Given the description of an element on the screen output the (x, y) to click on. 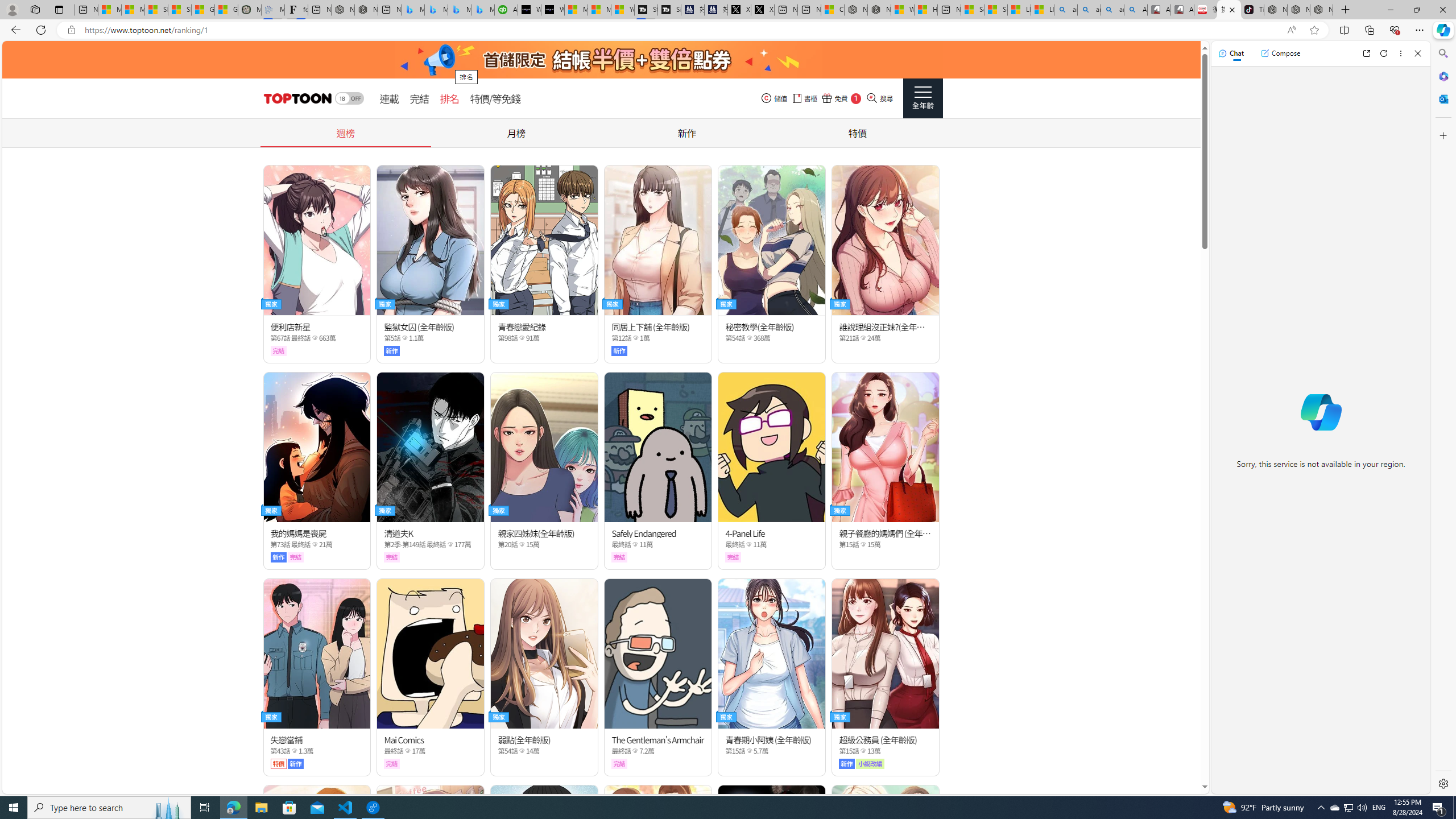
Open link in new tab (1366, 53)
Outlook (1442, 98)
Nordace Siena Pro 15 Backpack (1298, 9)
